Given the description of an element on the screen output the (x, y) to click on. 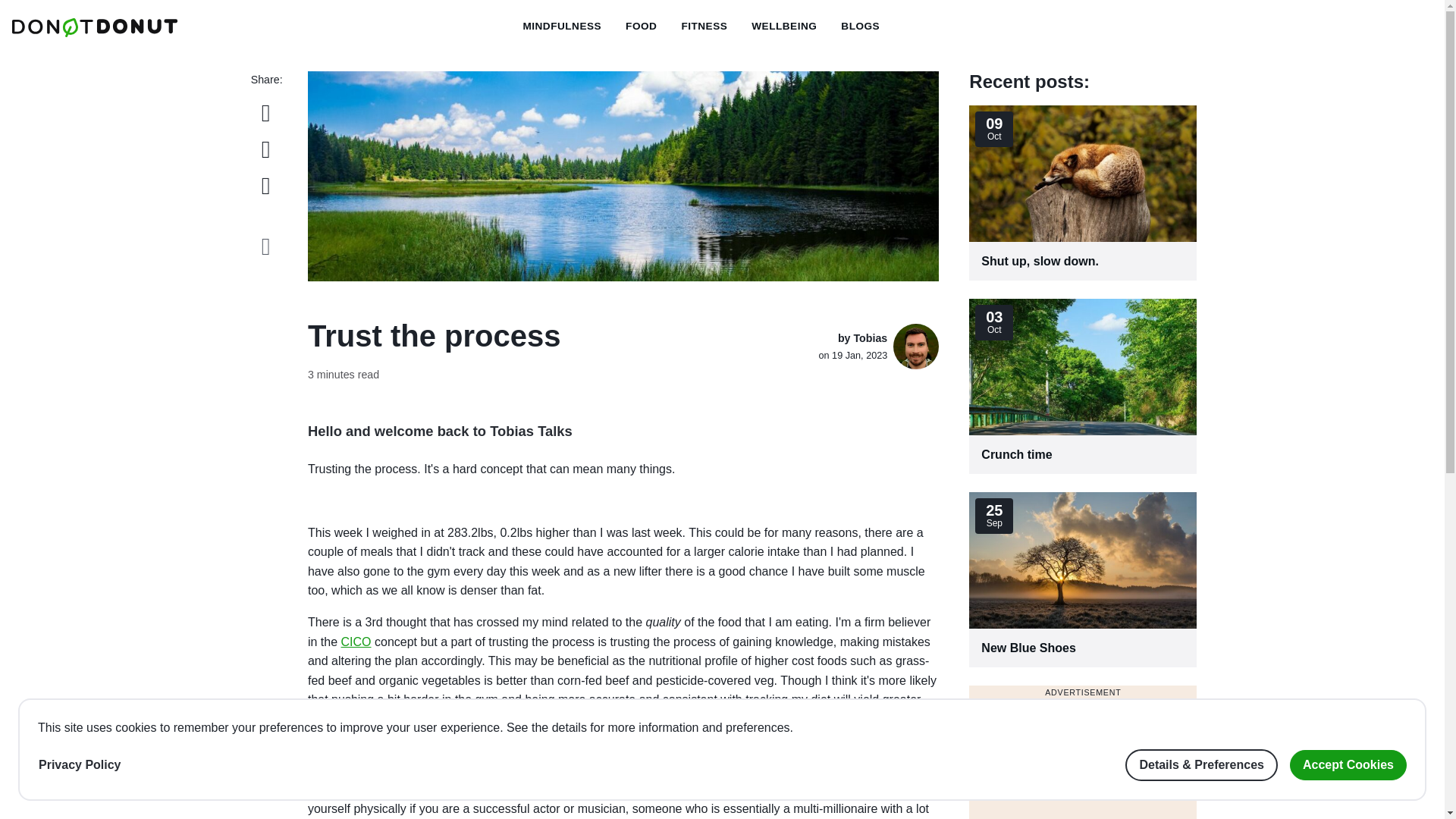
Health (859, 26)
WELLBEING (1082, 192)
Fitness (783, 26)
Wellbeing (703, 26)
CICO (783, 26)
FITNESS (355, 641)
MINDFULNESS (703, 26)
Privacy Policy (561, 26)
Food (79, 765)
BLOGS (640, 26)
FOOD (1082, 386)
mindfulness (1082, 579)
